Given the description of an element on the screen output the (x, y) to click on. 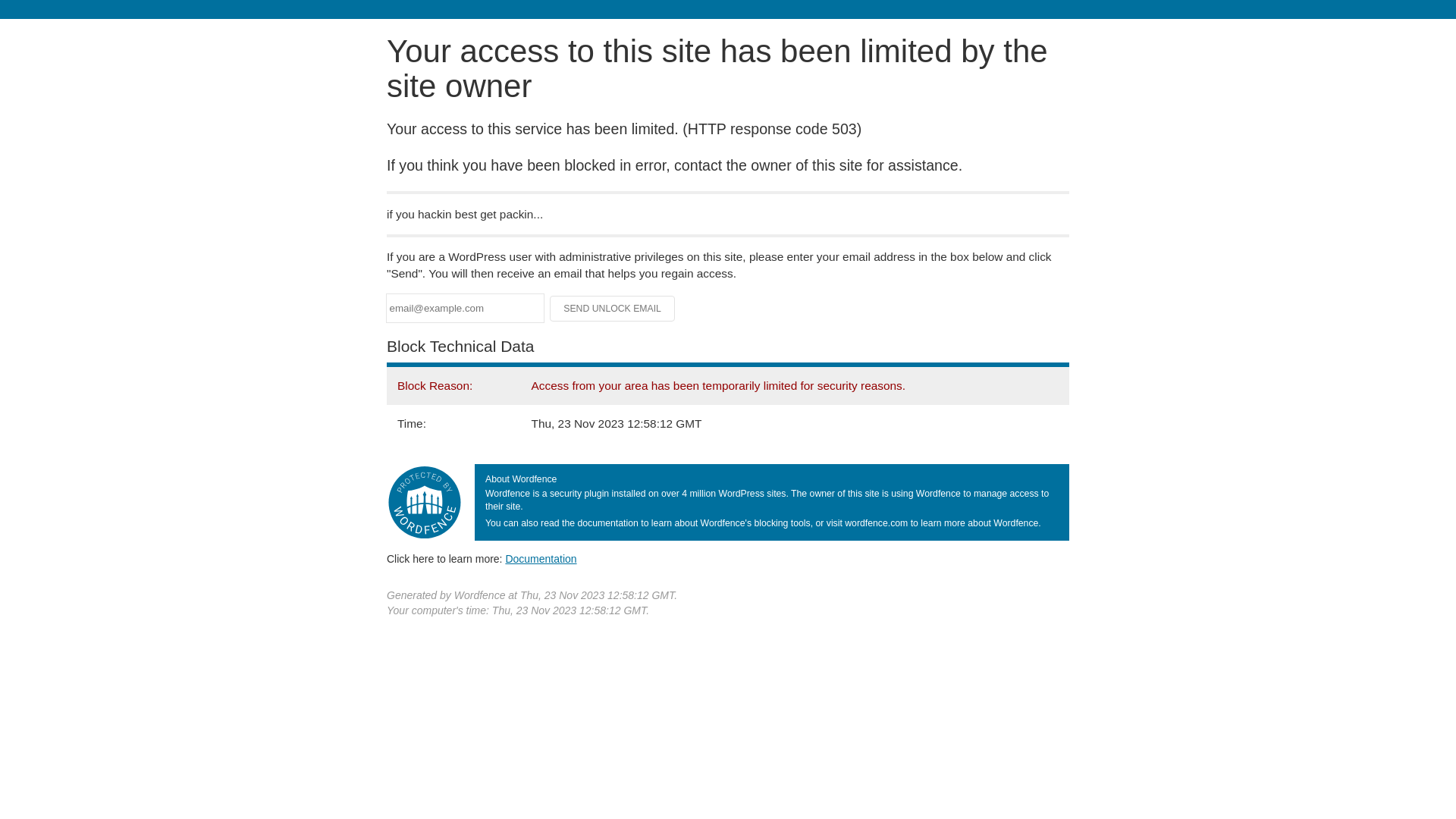
Send Unlock Email Element type: text (612, 308)
Documentation Element type: text (540, 558)
